Given the description of an element on the screen output the (x, y) to click on. 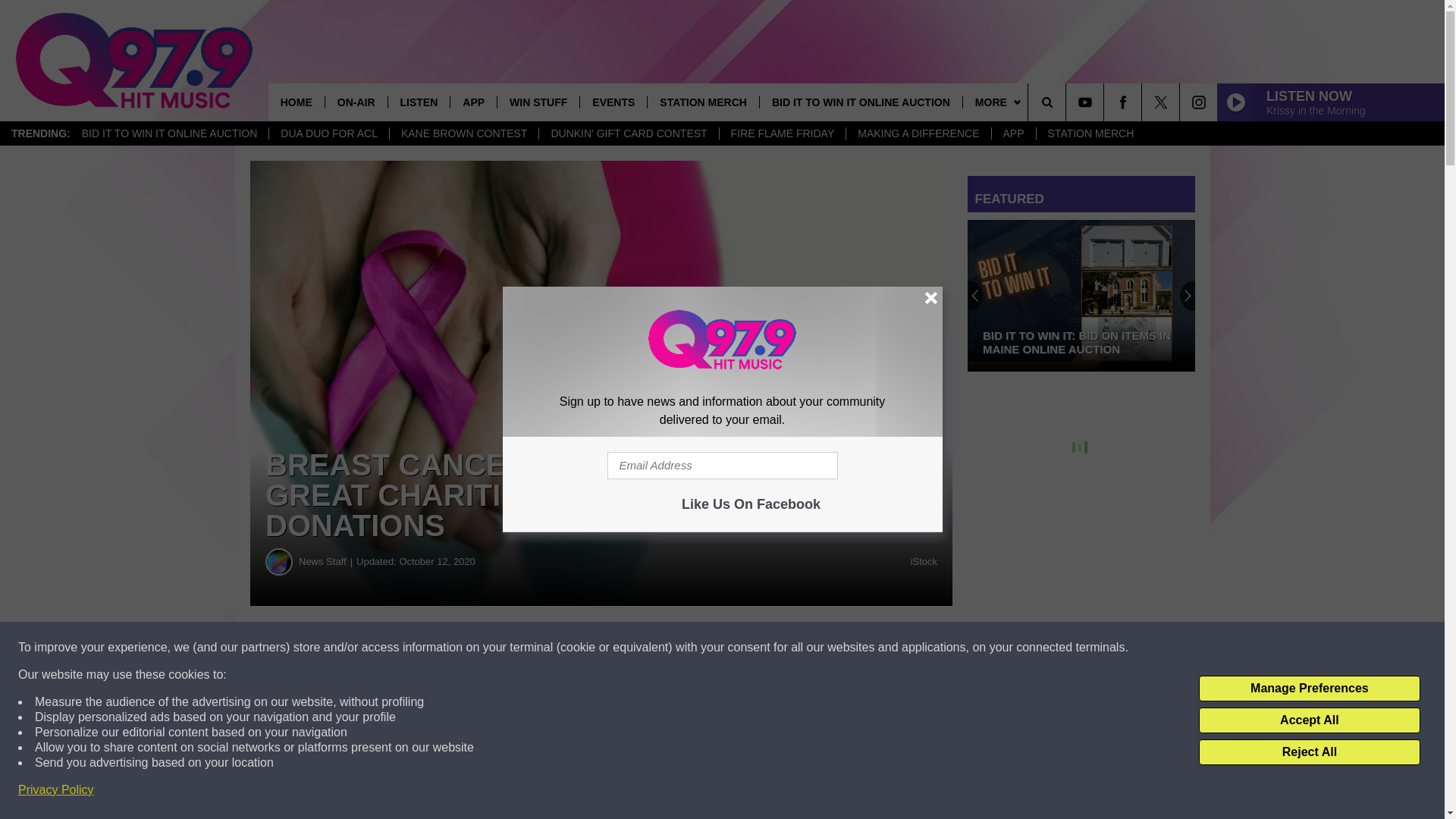
APP (1013, 133)
LISTEN (418, 102)
Manage Preferences (1309, 688)
MAKING A DIFFERENCE (917, 133)
Accept All (1309, 720)
FIRE FLAME FRIDAY (782, 133)
STATION MERCH (1090, 133)
SEARCH (1068, 102)
Privacy Policy (55, 789)
APP (472, 102)
Email Address (722, 465)
Share on Twitter (741, 647)
KANE BROWN CONTEST (463, 133)
SEARCH (1068, 102)
BID IT TO WIN IT ONLINE AUCTION (169, 133)
